Given the description of an element on the screen output the (x, y) to click on. 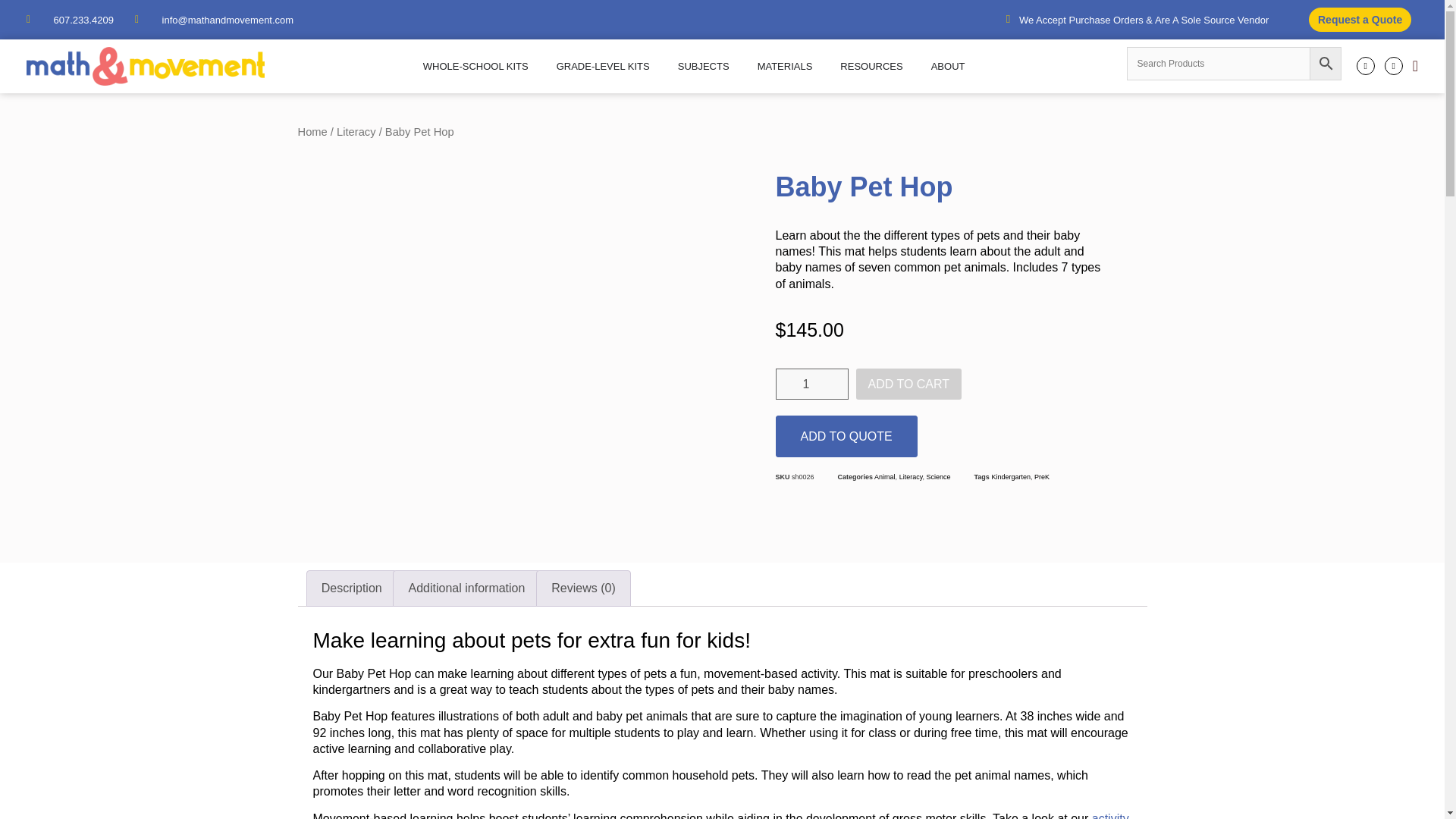
1 (810, 383)
607.233.4209 (69, 19)
Request a Quote (1359, 19)
